Given the description of an element on the screen output the (x, y) to click on. 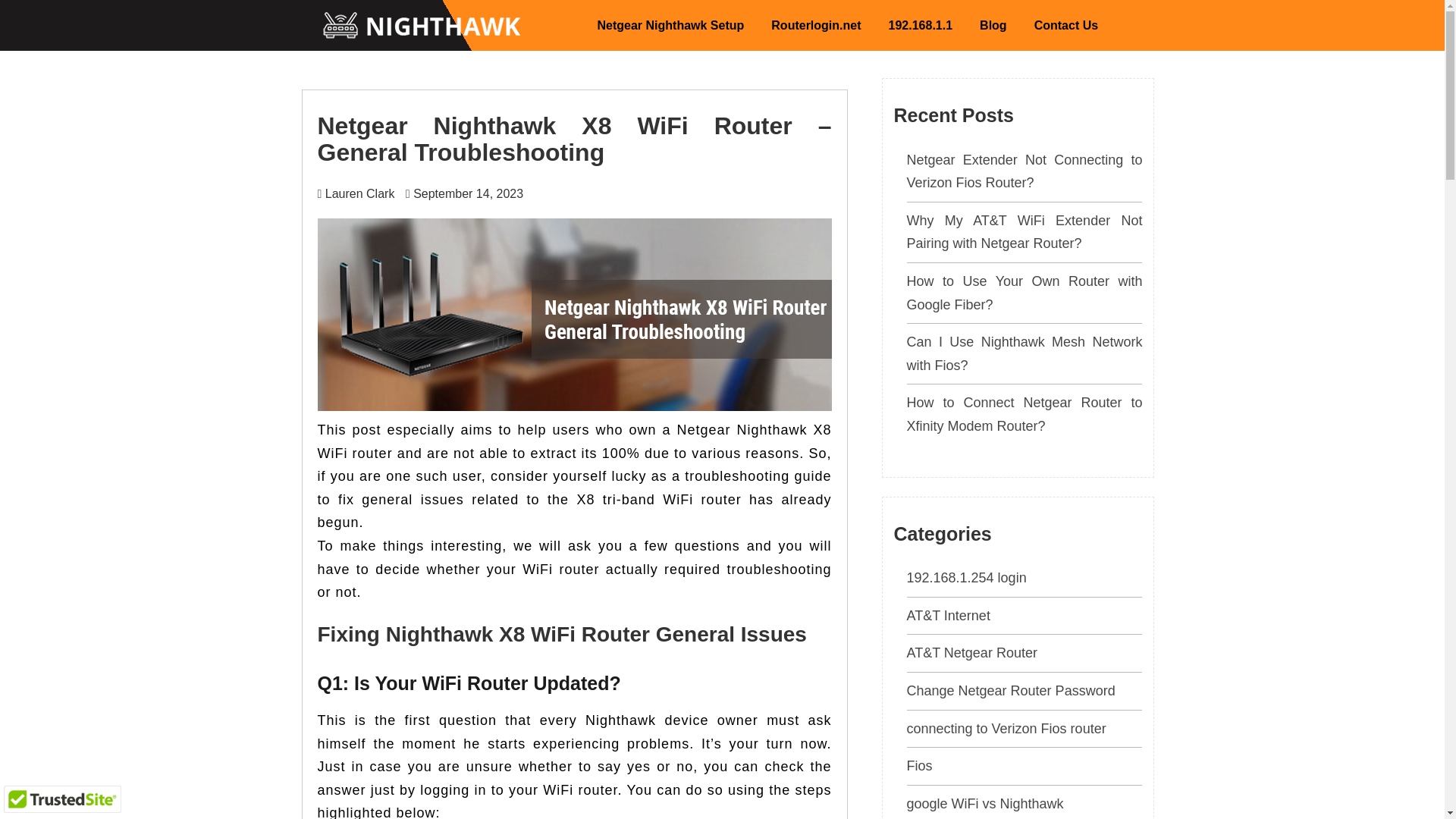
connecting to Verizon Fios router (1006, 727)
Netgear Extender Not Connecting to Verizon Fios Router? (1024, 171)
Change Netgear Router Password (1011, 690)
Fios (920, 765)
Can I Use Nighthawk Mesh Network with Fios? (1024, 353)
Contact Us (1066, 25)
How to Use Your Own Router with Google Fiber? (1024, 292)
192.168.1.1 (920, 25)
How to Connect Netgear Router to Xfinity Modem Router? (1024, 414)
192.168.1.254 login (966, 577)
google WiFi vs Nighthawk (985, 803)
Routerlogin.net (816, 25)
Netgear Nighthawk Setup (670, 25)
Blog (992, 25)
